Given the description of an element on the screen output the (x, y) to click on. 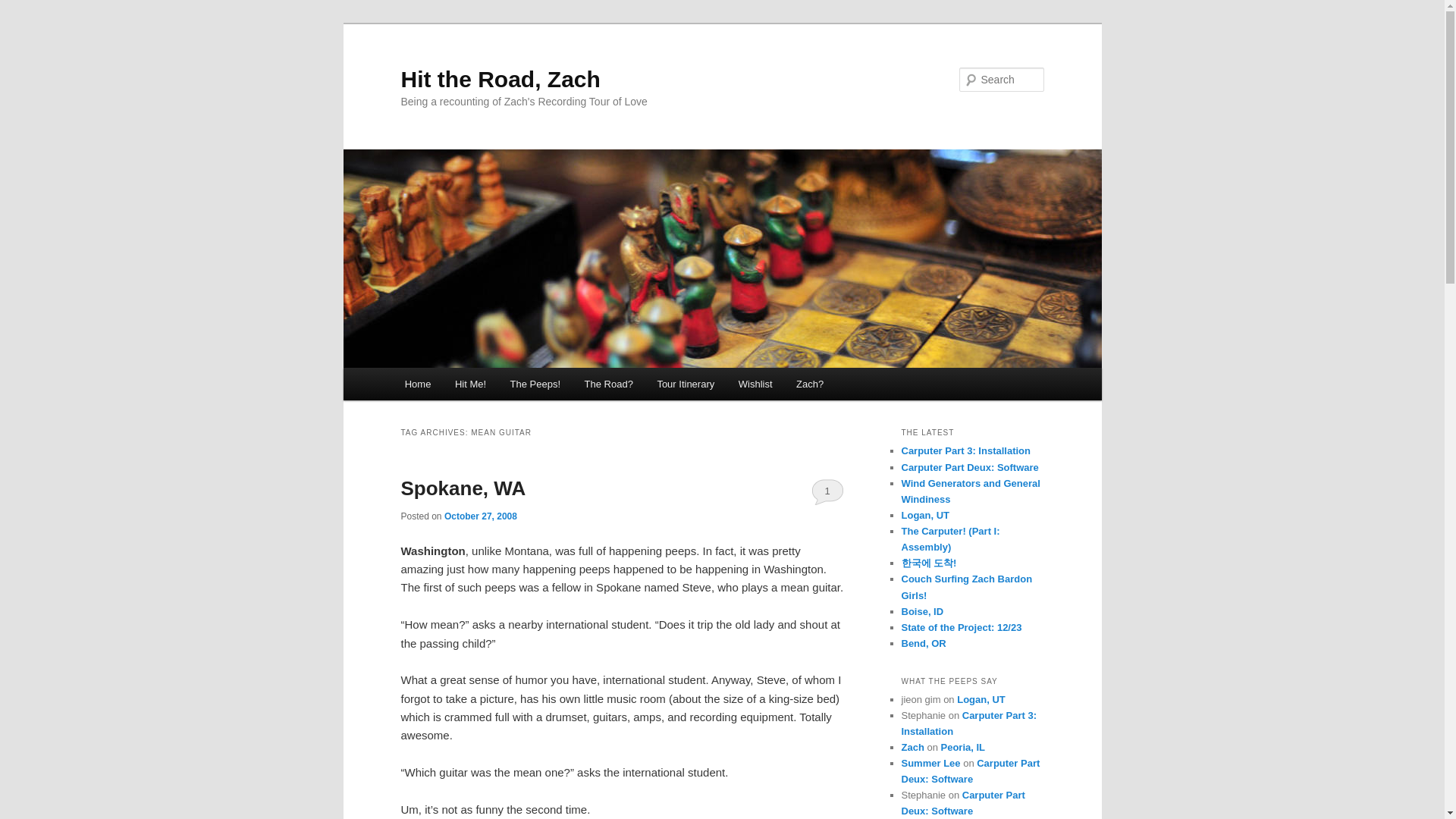
Boise, ID (922, 611)
Home (417, 383)
The Road? (608, 383)
Bend, OR (922, 643)
1 (827, 491)
Couch Surfing Zach Bardon Girls! (966, 586)
Carputer Part 3: Installation (965, 450)
October 27, 2008 (480, 516)
Tour Itinerary (685, 383)
4:41 pm (480, 516)
Hit Me! (469, 383)
Spokane, WA (462, 487)
Carputer Part Deux: Software (969, 467)
Carputer Part 3: Installation (968, 723)
